Given the description of an element on the screen output the (x, y) to click on. 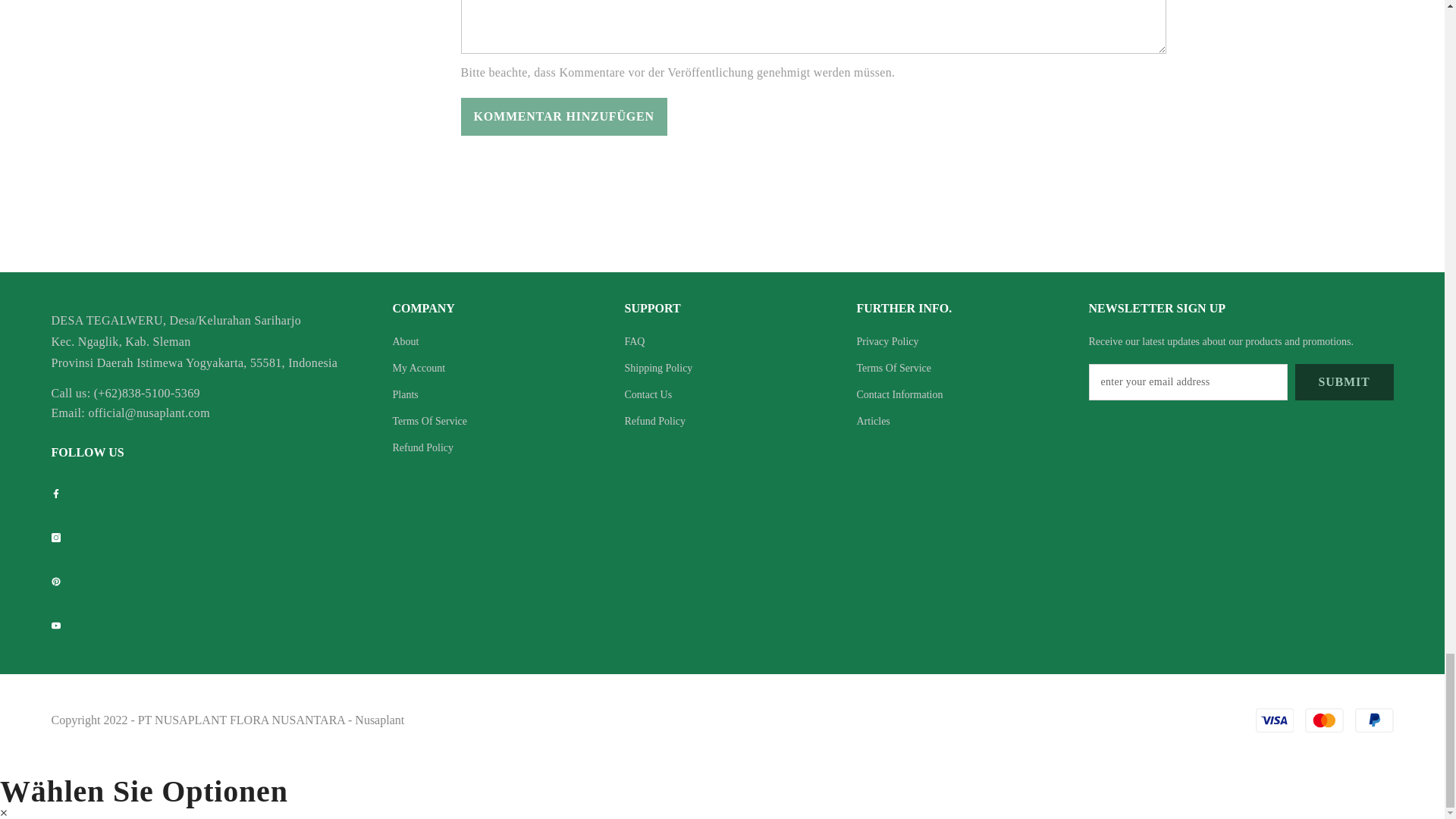
Mastercard (1323, 720)
Visa (1274, 720)
PayPal (1374, 720)
